Given the description of an element on the screen output the (x, y) to click on. 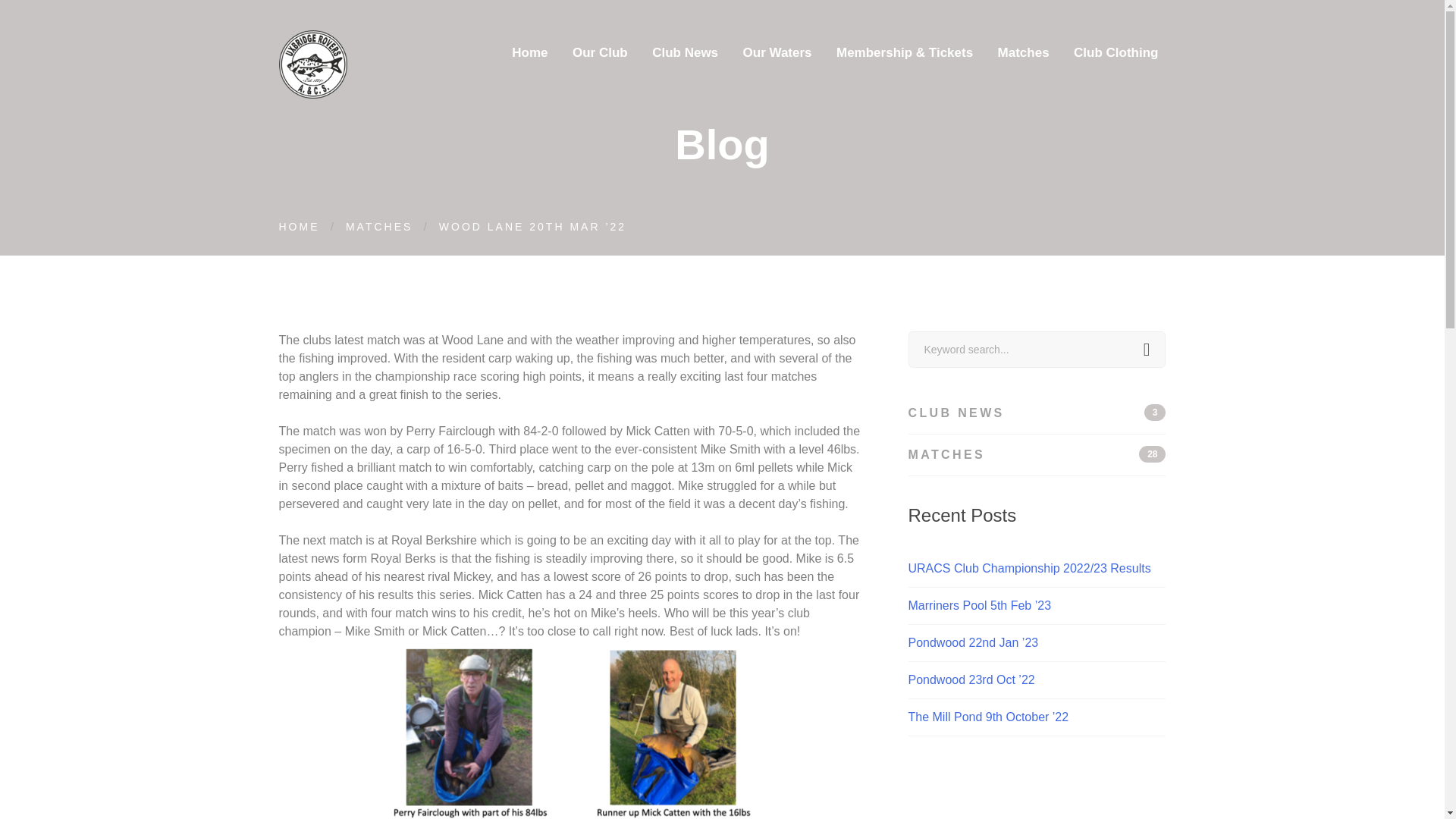
Search for: (1037, 349)
Club News (685, 49)
MATCHES (379, 226)
HOME (299, 226)
Matches (1023, 49)
Our Waters (1037, 454)
Home (777, 49)
Our Club (528, 49)
Club Clothing (600, 49)
